Given the description of an element on the screen output the (x, y) to click on. 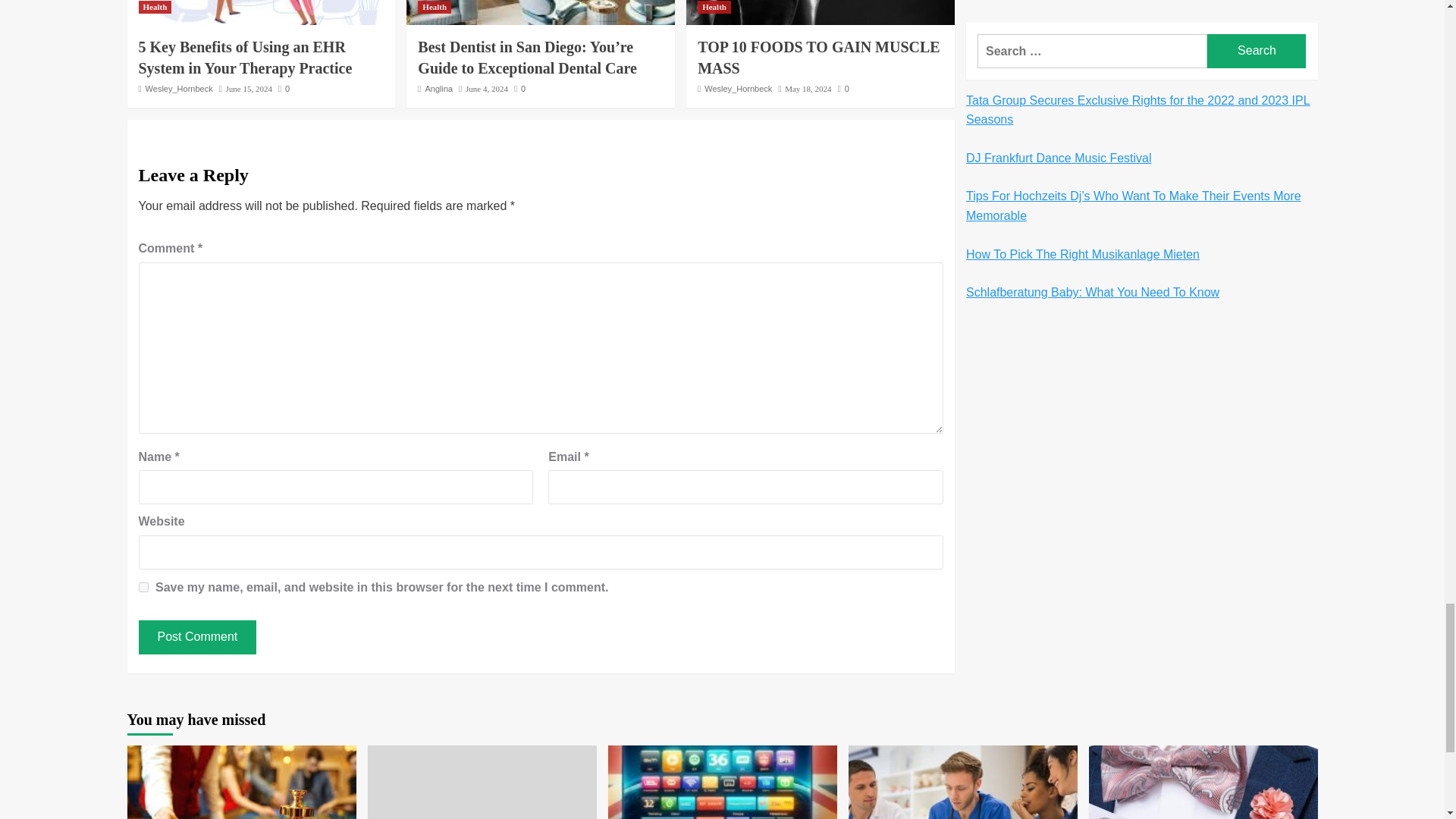
Health (154, 6)
June 15, 2024 (248, 88)
Post Comment (197, 636)
yes (143, 587)
